Given the description of an element on the screen output the (x, y) to click on. 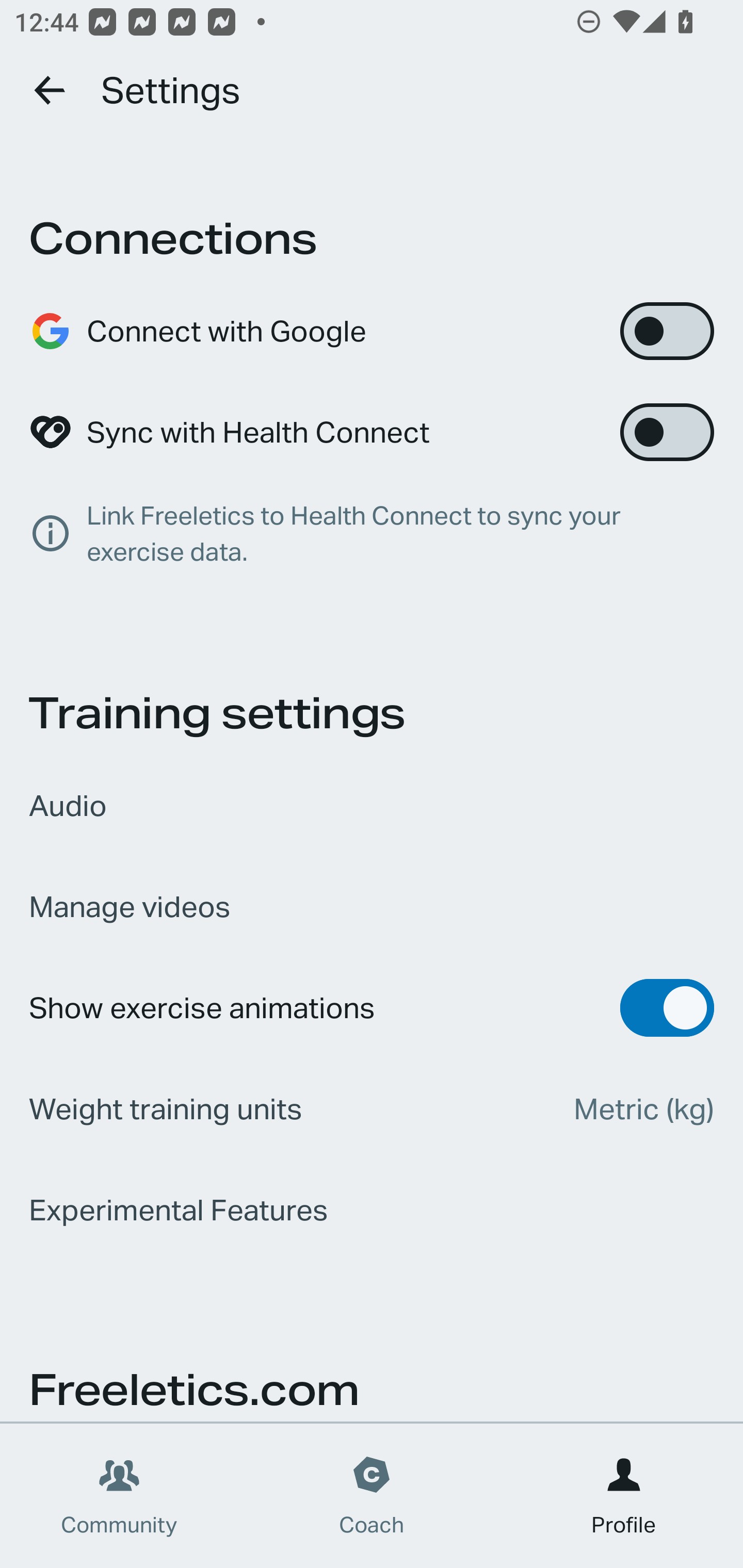
Go back (50, 90)
Connect with Google (371, 330)
Sync with Health Connect (371, 431)
Audio (371, 805)
Manage videos (371, 907)
Show exercise animations (371, 1008)
Weight training units Metric (kg) (371, 1108)
Experimental Features (371, 1209)
Community (119, 1495)
Coach (371, 1495)
